Given the description of an element on the screen output the (x, y) to click on. 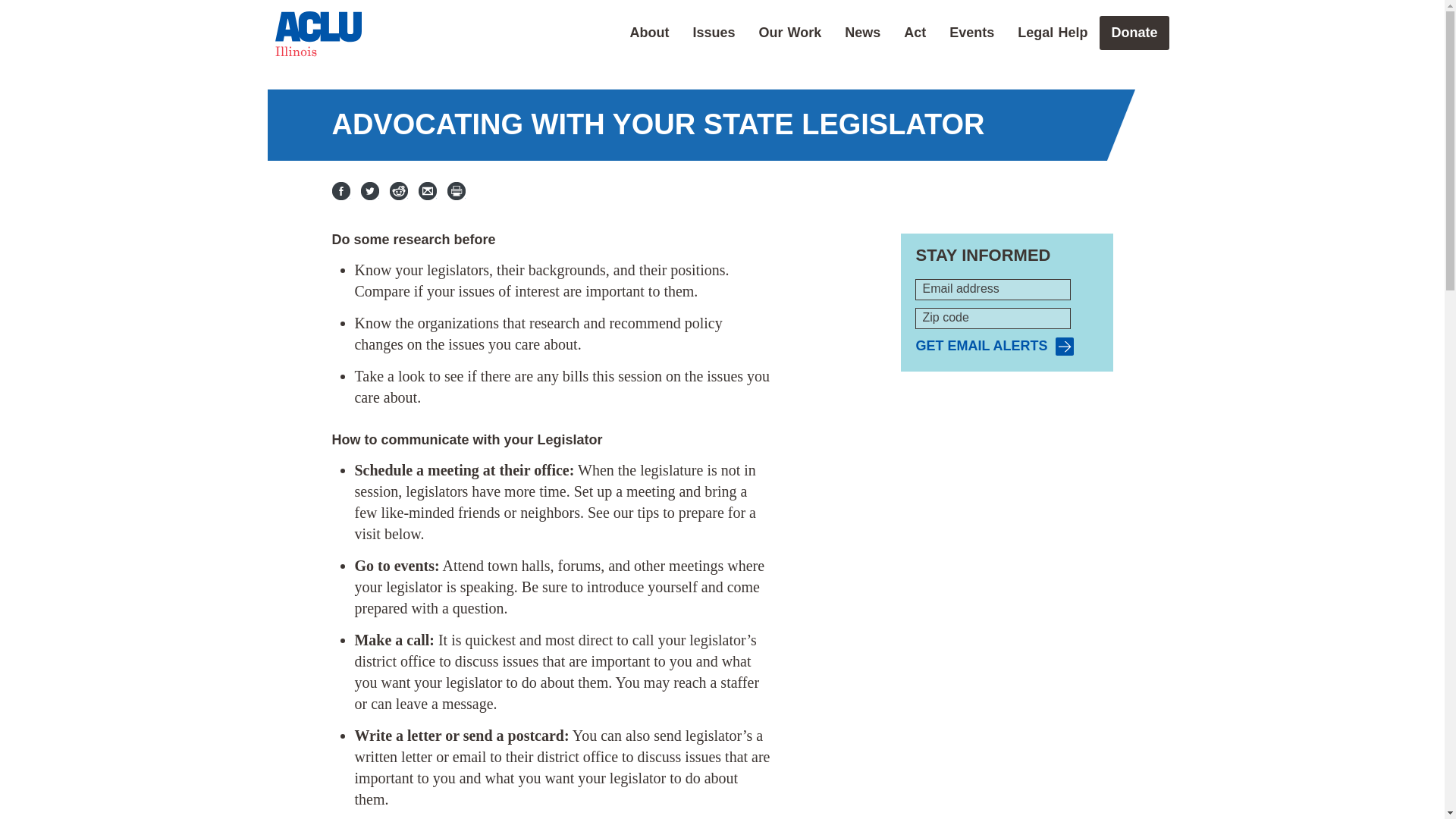
ACLU of Illinois - logo (318, 33)
Act (914, 32)
Submit this to Facebook (340, 190)
Submit this to Twitter (369, 190)
This field is required. (918, 307)
Events (971, 32)
Zip code (992, 318)
Submit this to Reddit (398, 190)
Email this page (427, 190)
Get email alerts (994, 346)
This field is required. (918, 279)
Email address (992, 289)
